Given the description of an element on the screen output the (x, y) to click on. 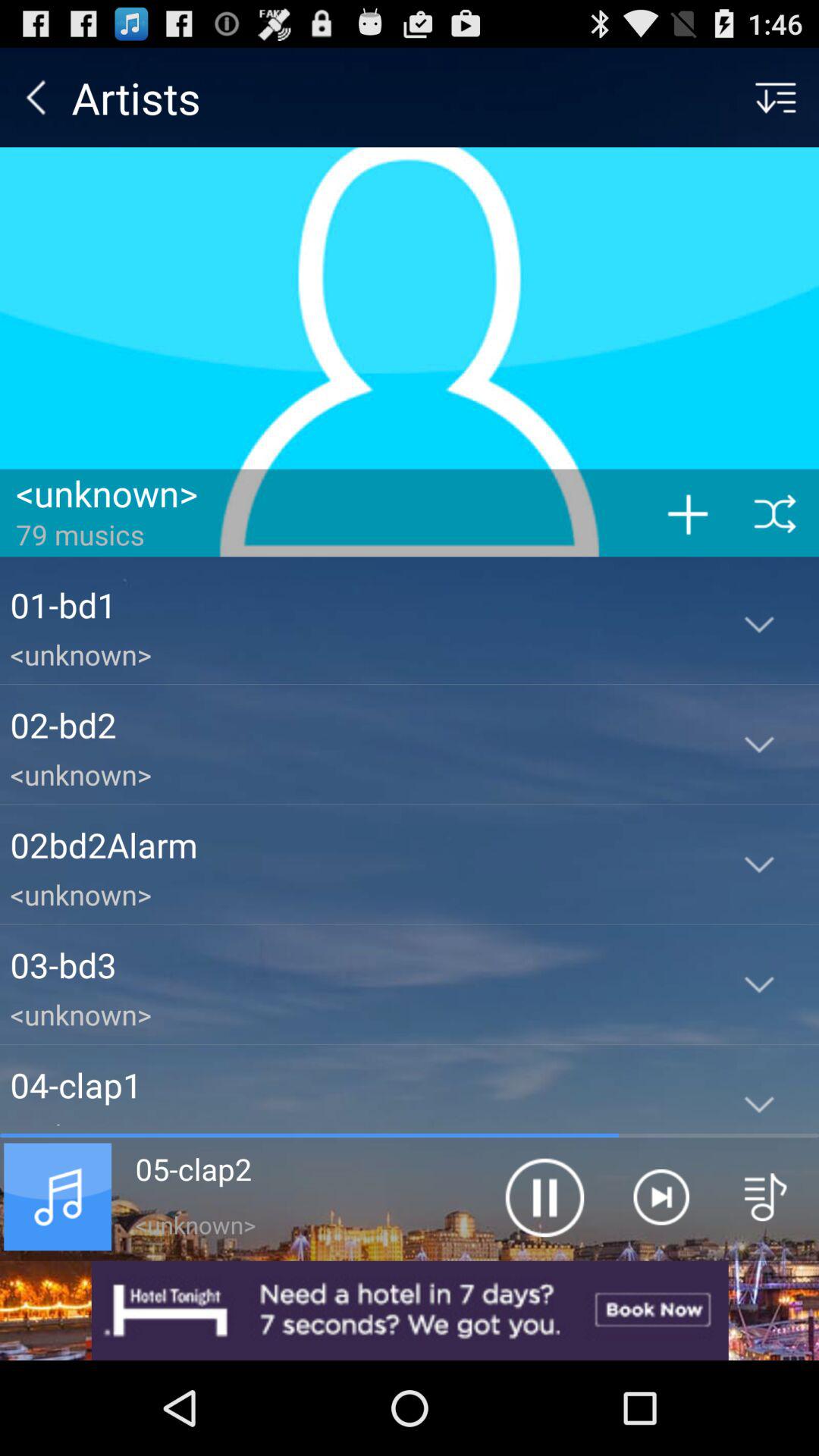
launch 02-bd2 icon (354, 724)
